Given the description of an element on the screen output the (x, y) to click on. 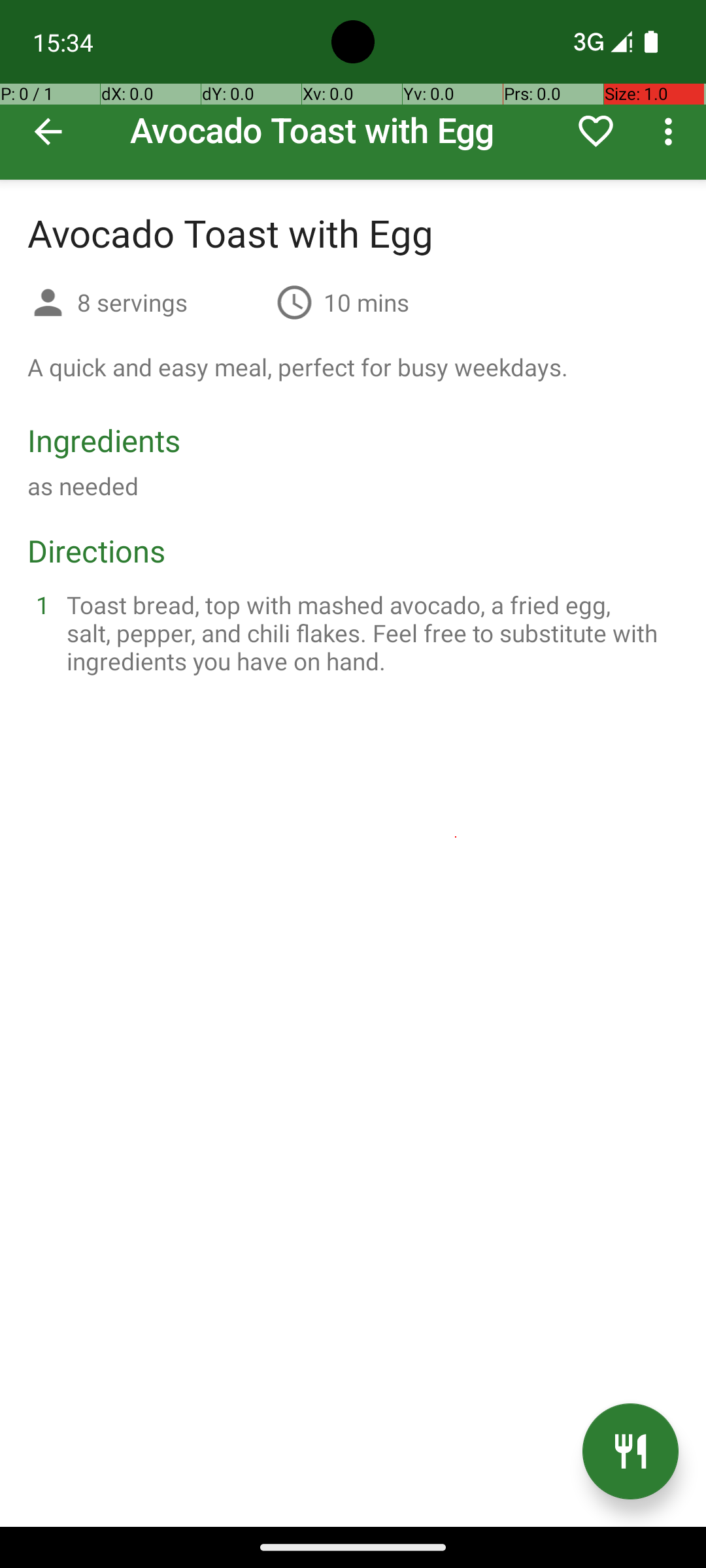
as needed Element type: android.widget.TextView (82, 485)
Toast bread, top with mashed avocado, a fried egg, salt, pepper, and chili flakes. Feel free to substitute with ingredients you have on hand. Element type: android.widget.TextView (368, 632)
